Given the description of an element on the screen output the (x, y) to click on. 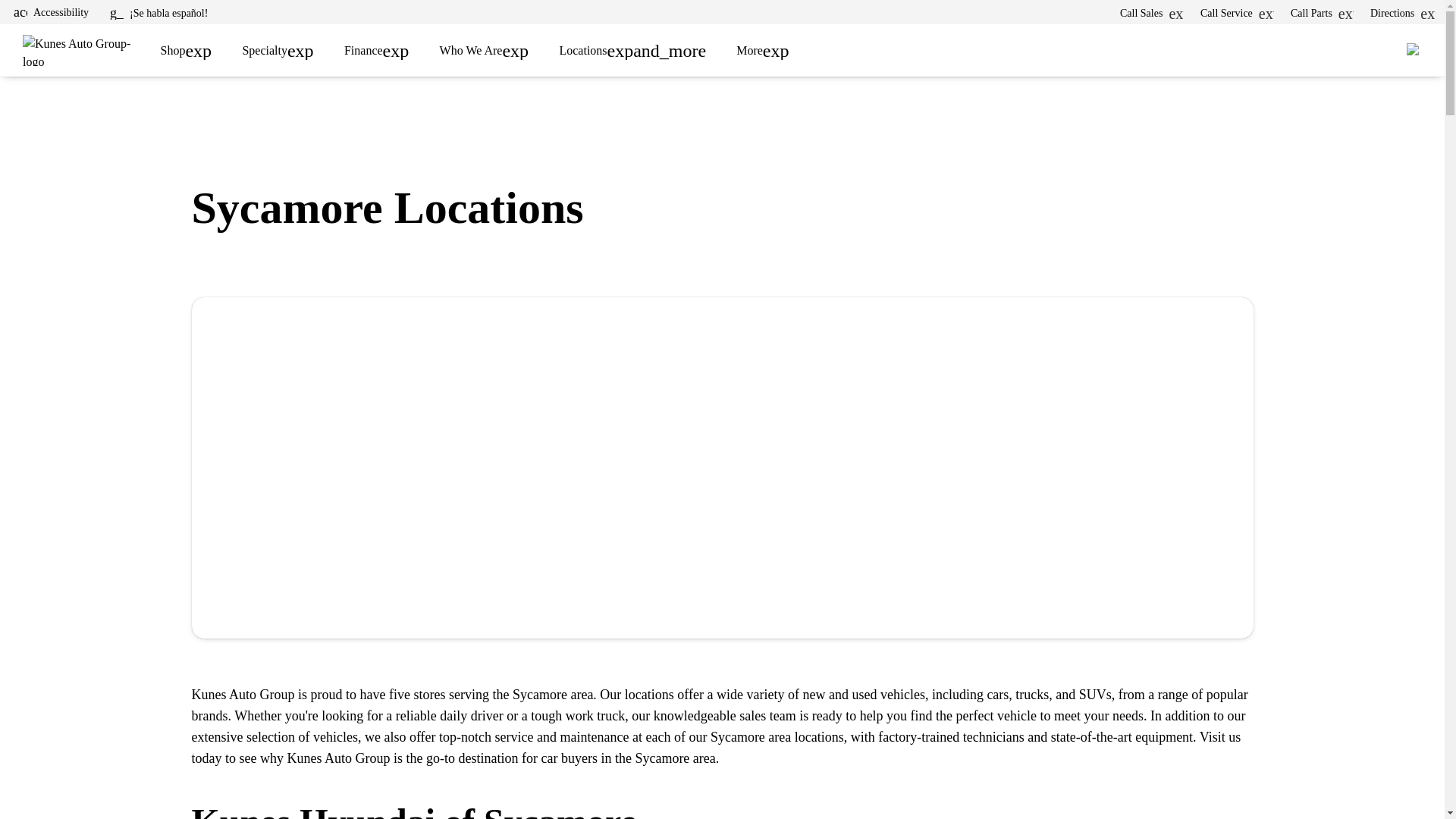
Call Service (1236, 13)
Call Parts (1321, 13)
Directions (1402, 13)
Call Sales (1151, 13)
Accessibility (50, 12)
